Given the description of an element on the screen output the (x, y) to click on. 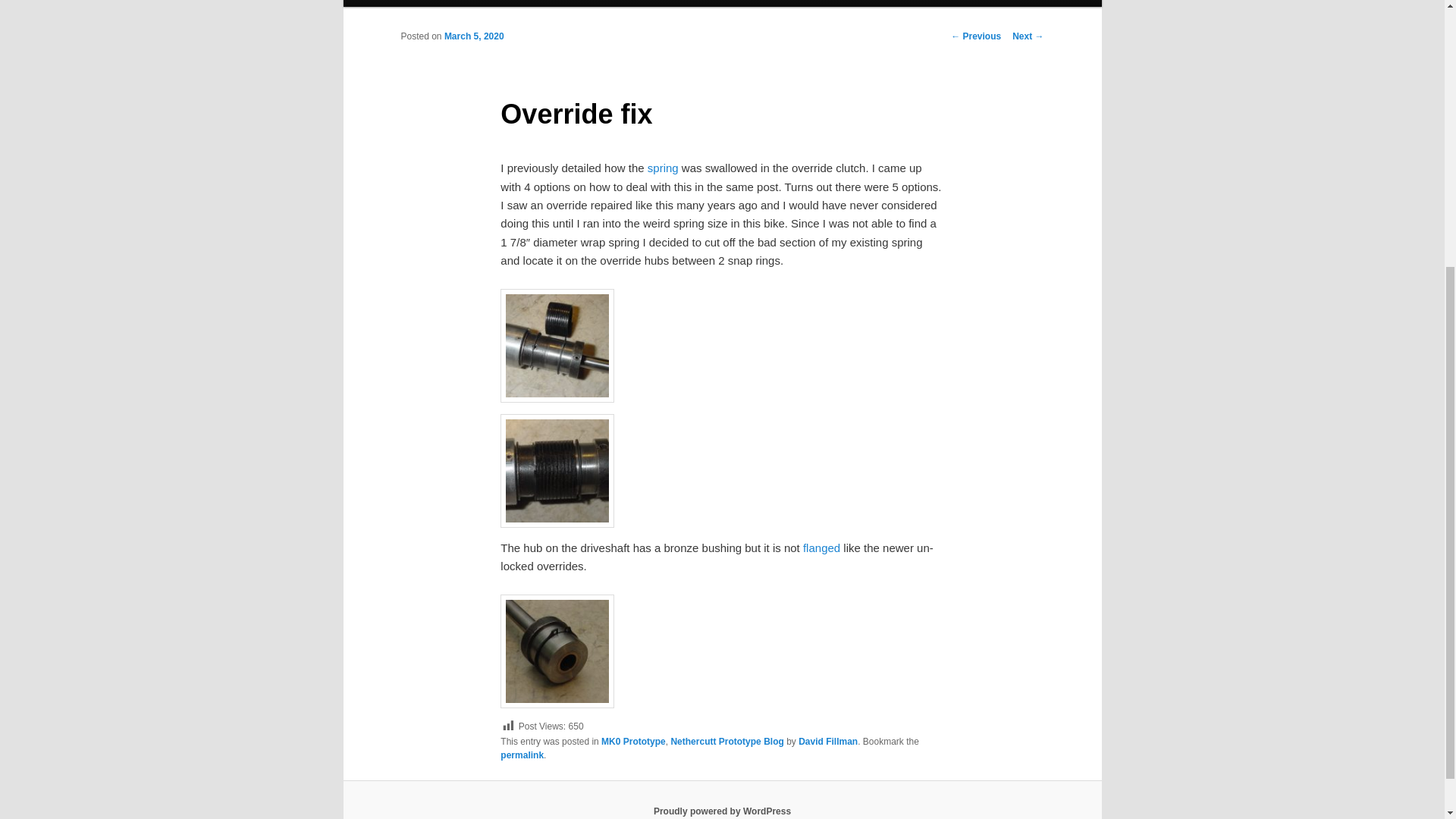
Testimonials (548, 2)
Semantic Personal Publishing Platform (721, 810)
6:20 am (473, 36)
Technical Information (451, 2)
Permalink to Override fix (521, 755)
